Given the description of an element on the screen output the (x, y) to click on. 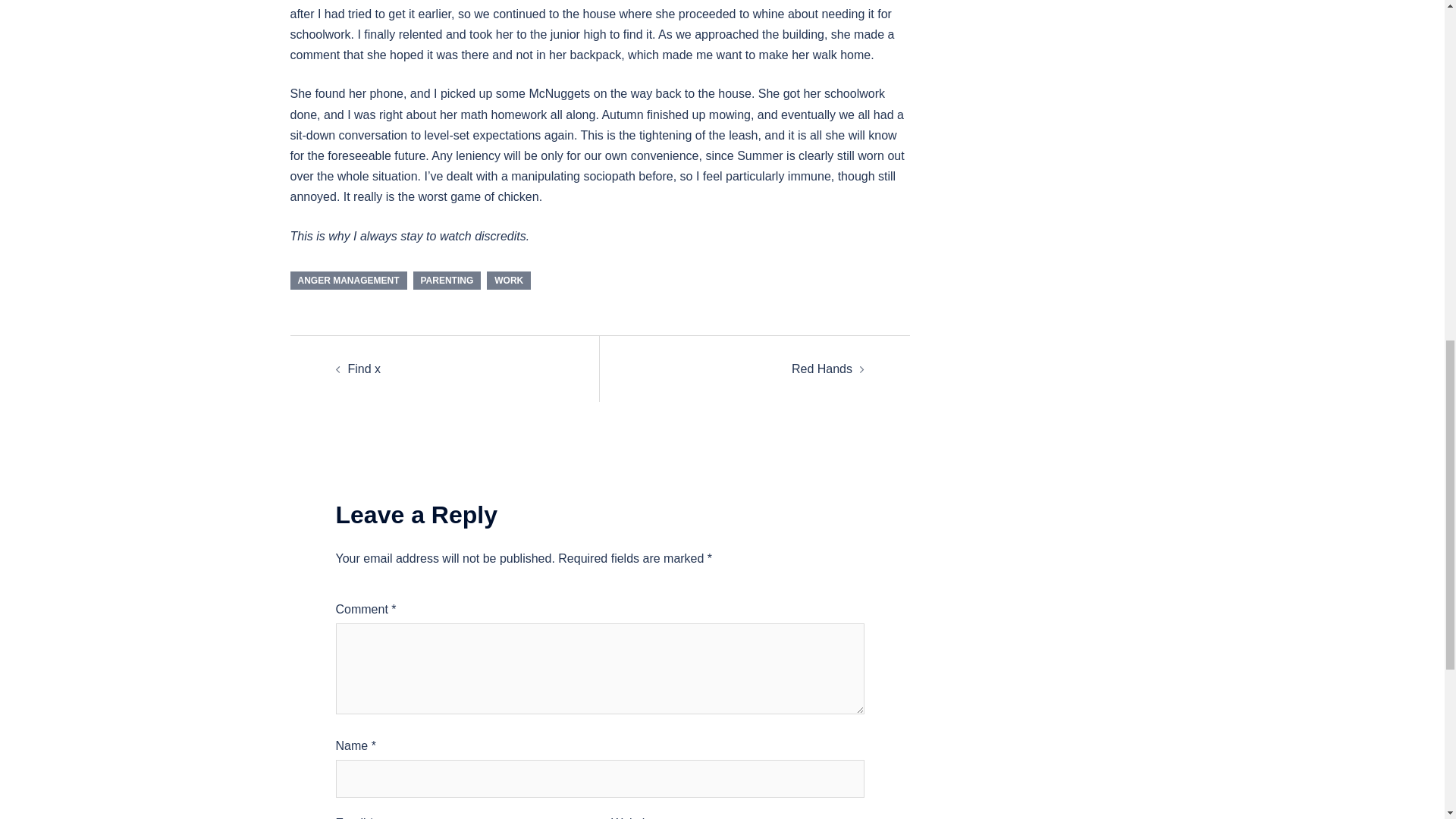
Red Hands (821, 368)
ANGER MANAGEMENT (347, 280)
PARENTING (446, 280)
Find x (363, 368)
WORK (508, 280)
